Given the description of an element on the screen output the (x, y) to click on. 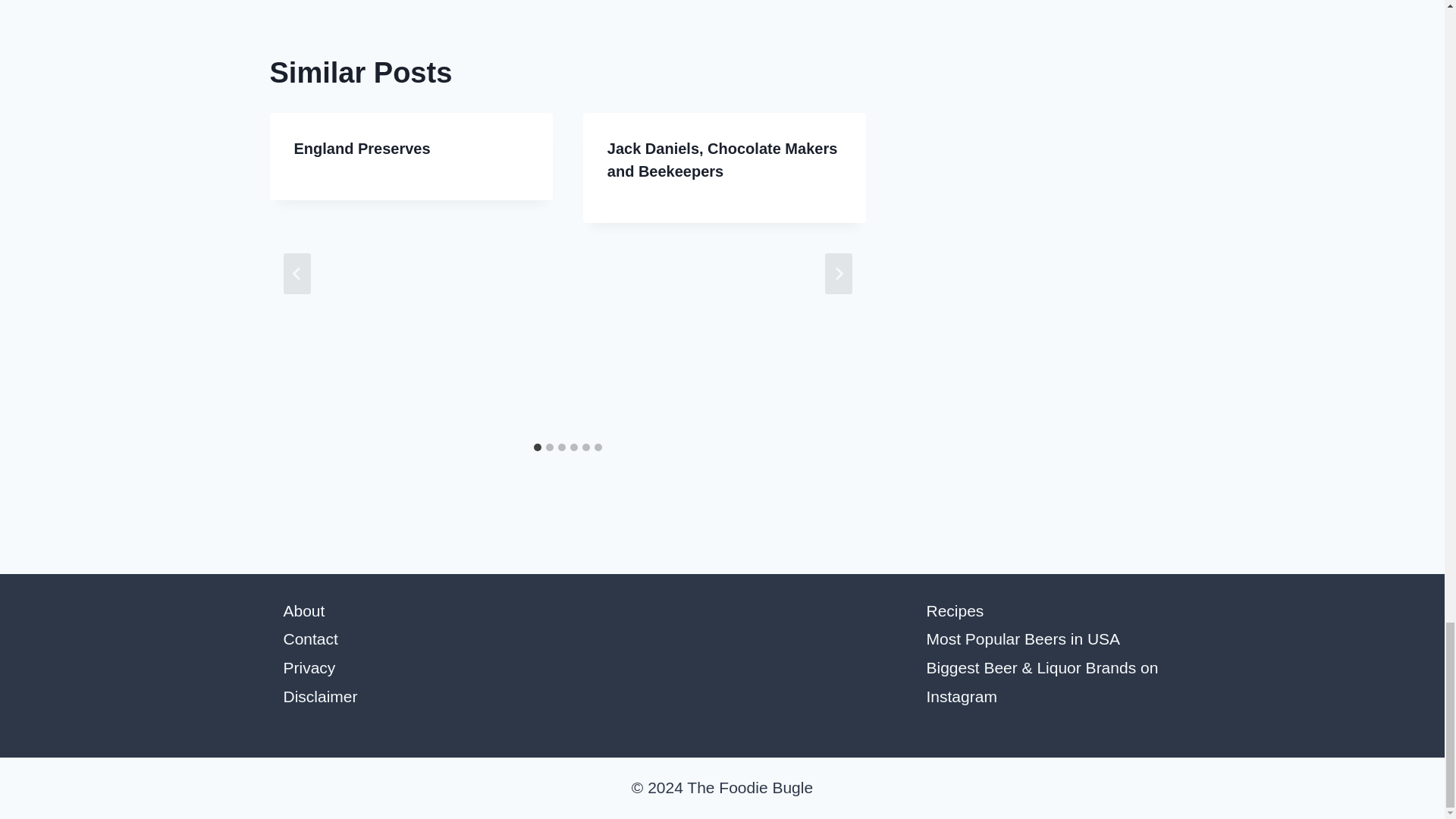
Jack Daniels, Chocolate Makers and Beekeepers (722, 159)
Privacy (309, 667)
Contact (310, 638)
Recipes (955, 610)
Most Popular Beers in USA (1023, 638)
About (303, 610)
England Preserves (362, 148)
Disclaimer (320, 696)
